Given the description of an element on the screen output the (x, y) to click on. 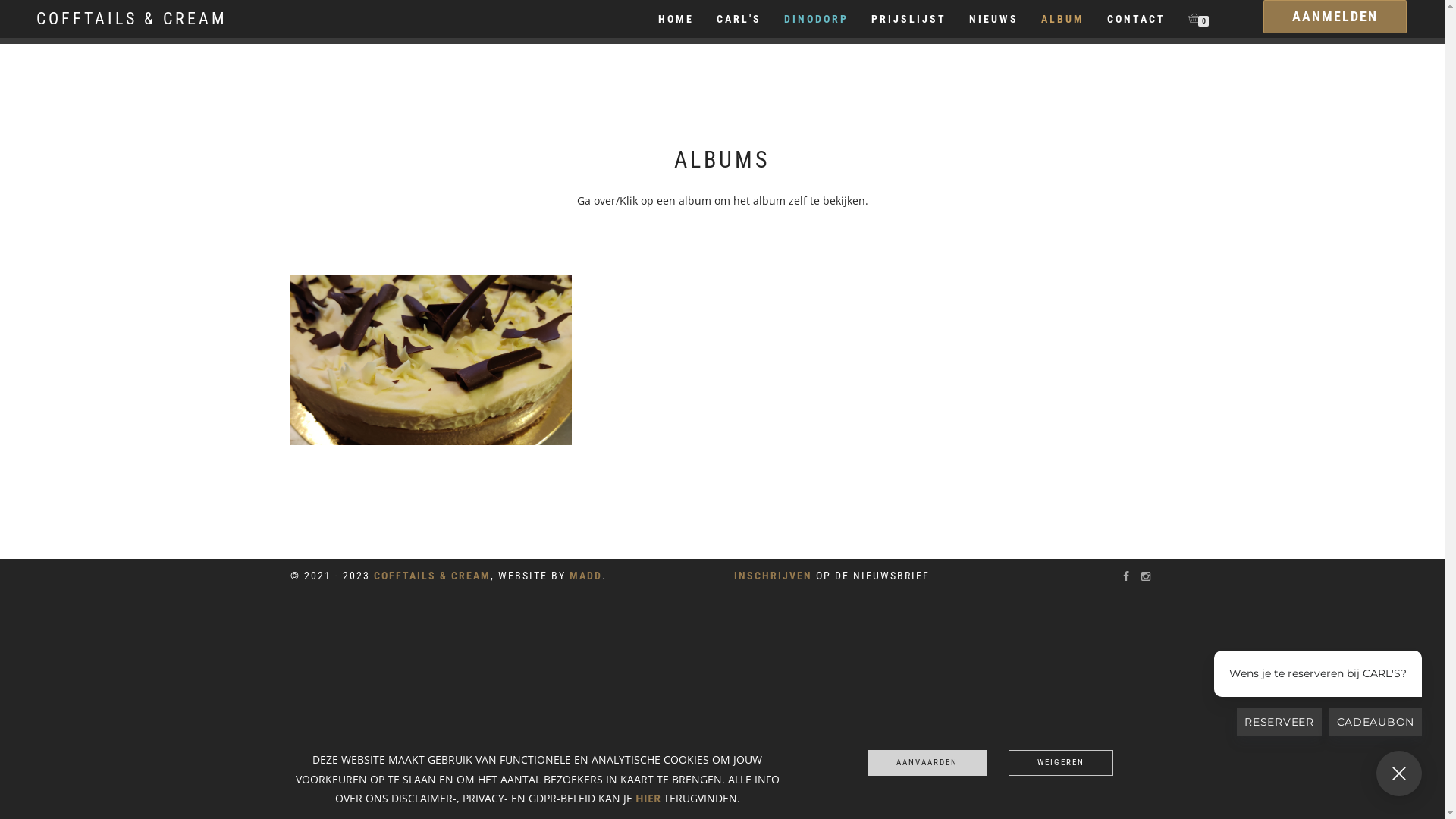
SMASHCAKES IN SAMENWERKING MET FRAMEZ FOTOGRAFIE Element type: text (1010, 281)
COFFTAILS & CREAM Element type: text (431, 575)
THEMA TAARTEN / VERJAARDAGSTAARTEN Element type: text (720, 300)
DINODORP Element type: text (1010, 261)
HARTIG GEBAK Element type: text (720, 281)
DINODORP Element type: text (815, 18)
MADD Element type: text (584, 575)
HOME Element type: text (675, 18)
CONTACT Element type: text (1135, 18)
PRIJSLIJST Element type: text (908, 18)
INSCHRIJVEN Element type: text (773, 575)
WEIGEREN Element type: text (1060, 762)
ALBUM Element type: text (1062, 18)
AANMELDEN Element type: text (1334, 16)
HIER Element type: text (647, 797)
CARL'S Element type: text (738, 18)
COFFTAILS & CREAM Element type: text (131, 18)
CARL'S Element type: text (430, 261)
0 Element type: text (1195, 18)
AANVAARDEN Element type: text (926, 762)
COCKTAILS Element type: text (720, 261)
NIEUWS Element type: text (993, 18)
